Given the description of an element on the screen output the (x, y) to click on. 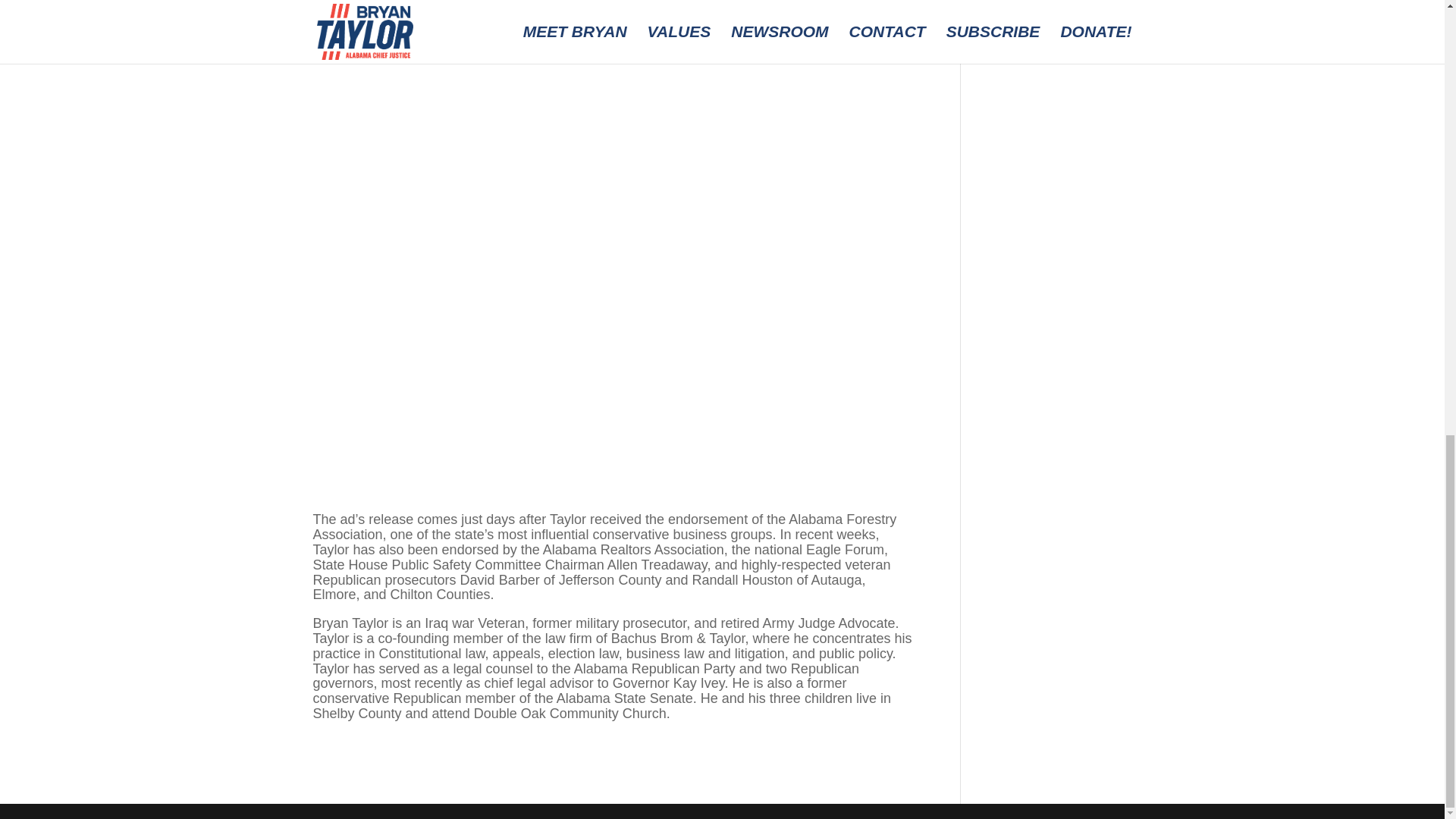
Like on Twitter 1815085241331282169 (1055, 25)
Reply on Twitter 1814365675160224247 (1050, 292)
Twitter 1814365675160224247 (1061, 335)
viewed here (440, 12)
Bryan Taylor (1073, 409)
Retweet on Twitter 1814365675160224247 (1081, 292)
Retweet on Twitter 1815085241331282169 (1081, 7)
Reply on Twitter 1815085241331282169 (1050, 7)
Twitter 1815085241331282169 (1061, 48)
